Given the description of an element on the screen output the (x, y) to click on. 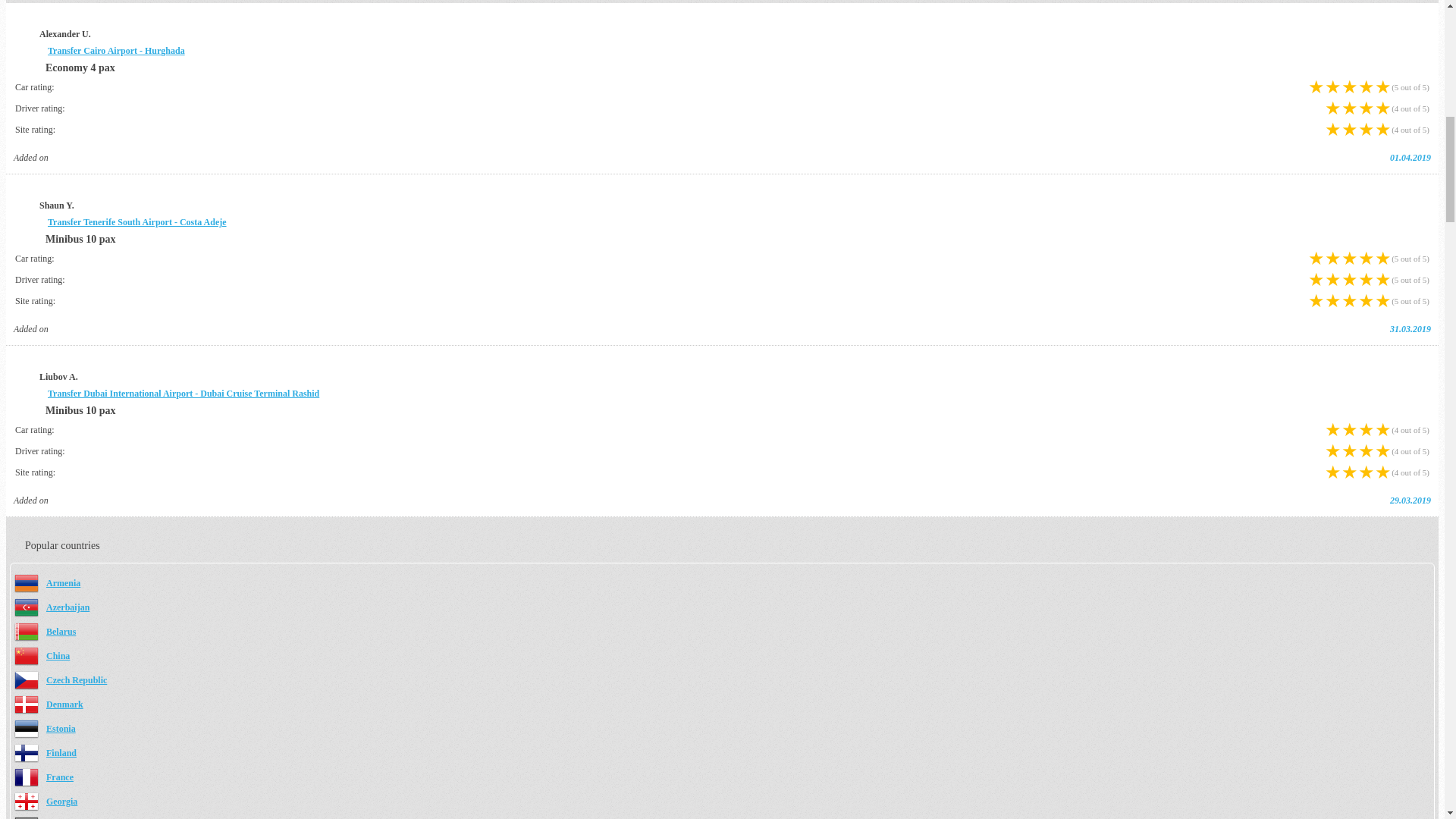
Finland (61, 752)
Transfer booking China (57, 655)
Transfer booking Finland (61, 752)
Transfer booking Belarus (60, 631)
Armenia (63, 583)
Transfer booking Georgia (61, 801)
Transfer booking Denmark (64, 704)
Transfer Tenerife South Airport - Costa Adeje (137, 222)
Azerbaijan (67, 606)
China (57, 655)
Transfer Cairo Airport - Hurghada (116, 50)
France (60, 777)
Transfer booking Azerbaijan (67, 606)
Transfer booking Armenia (63, 583)
